Given the description of an element on the screen output the (x, y) to click on. 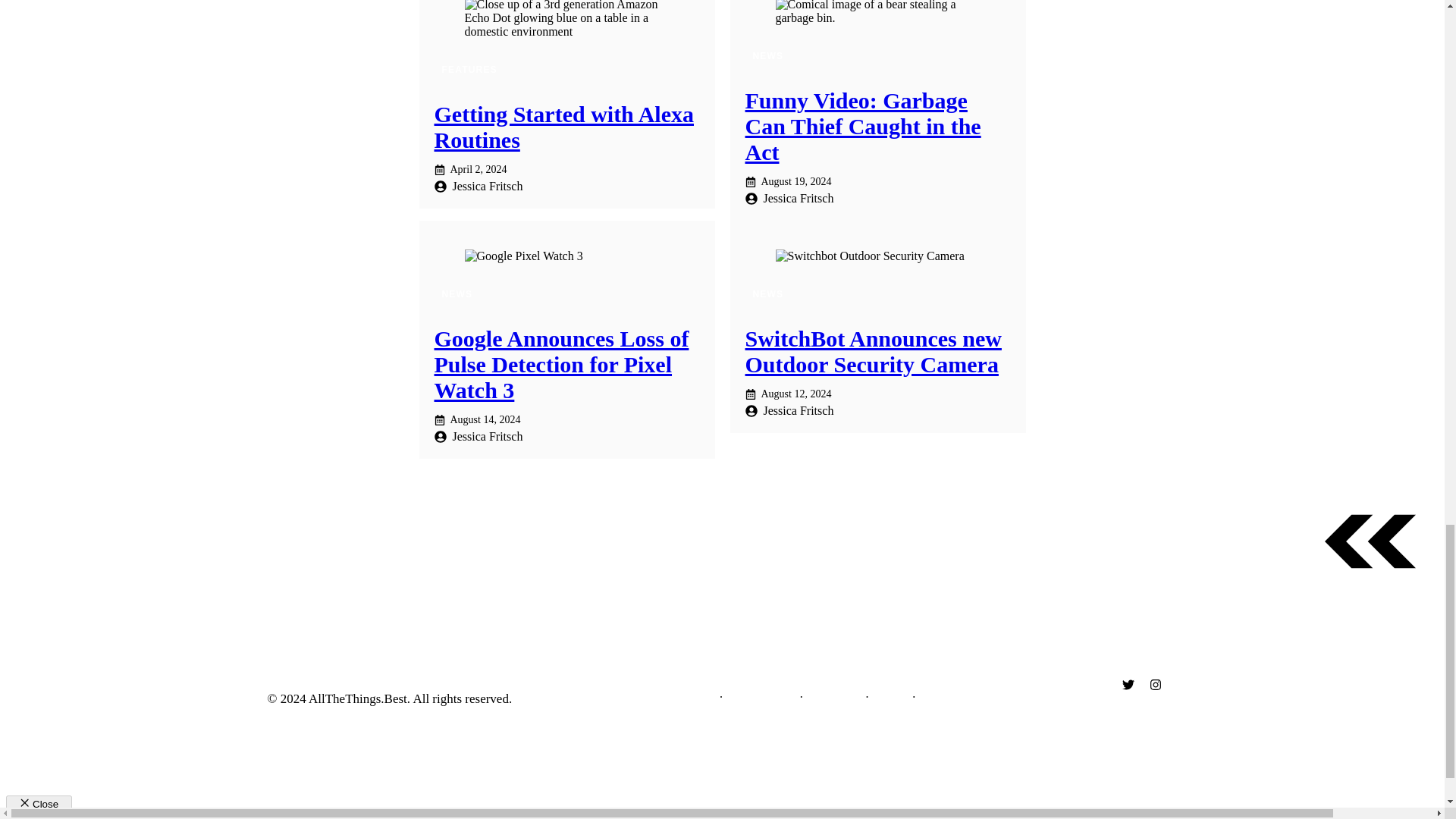
NEWS (456, 293)
About Us (692, 697)
NEWS (767, 293)
NEWS (767, 55)
Google Announces Loss of Pulse Detection for Pixel Watch 3 (560, 363)
Disclosures (834, 697)
FEATURES (468, 69)
Privacy Policy (760, 697)
SwitchBot Announces new Outdoor Security Camera (872, 350)
Funny Video: Garbage Can Thief Caught in the Act (861, 125)
